Given the description of an element on the screen output the (x, y) to click on. 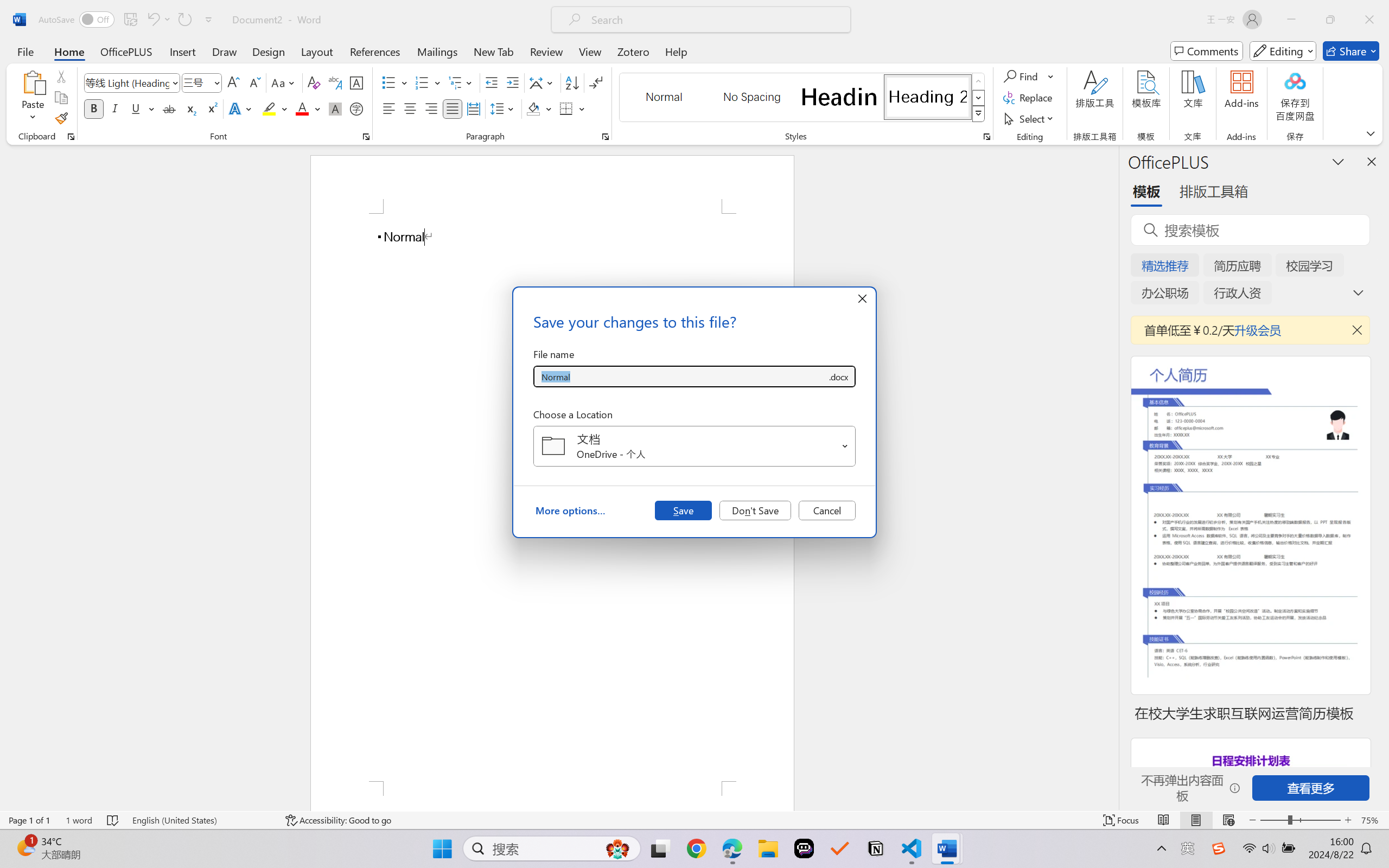
Underline (135, 108)
Subscript (190, 108)
Paste (33, 97)
OfficePLUS (126, 51)
Help (675, 51)
Customize Quick Access Toolbar (208, 19)
Grow Font (233, 82)
Font Color (308, 108)
Numbering (421, 82)
Font Size (201, 82)
